Given the description of an element on the screen output the (x, y) to click on. 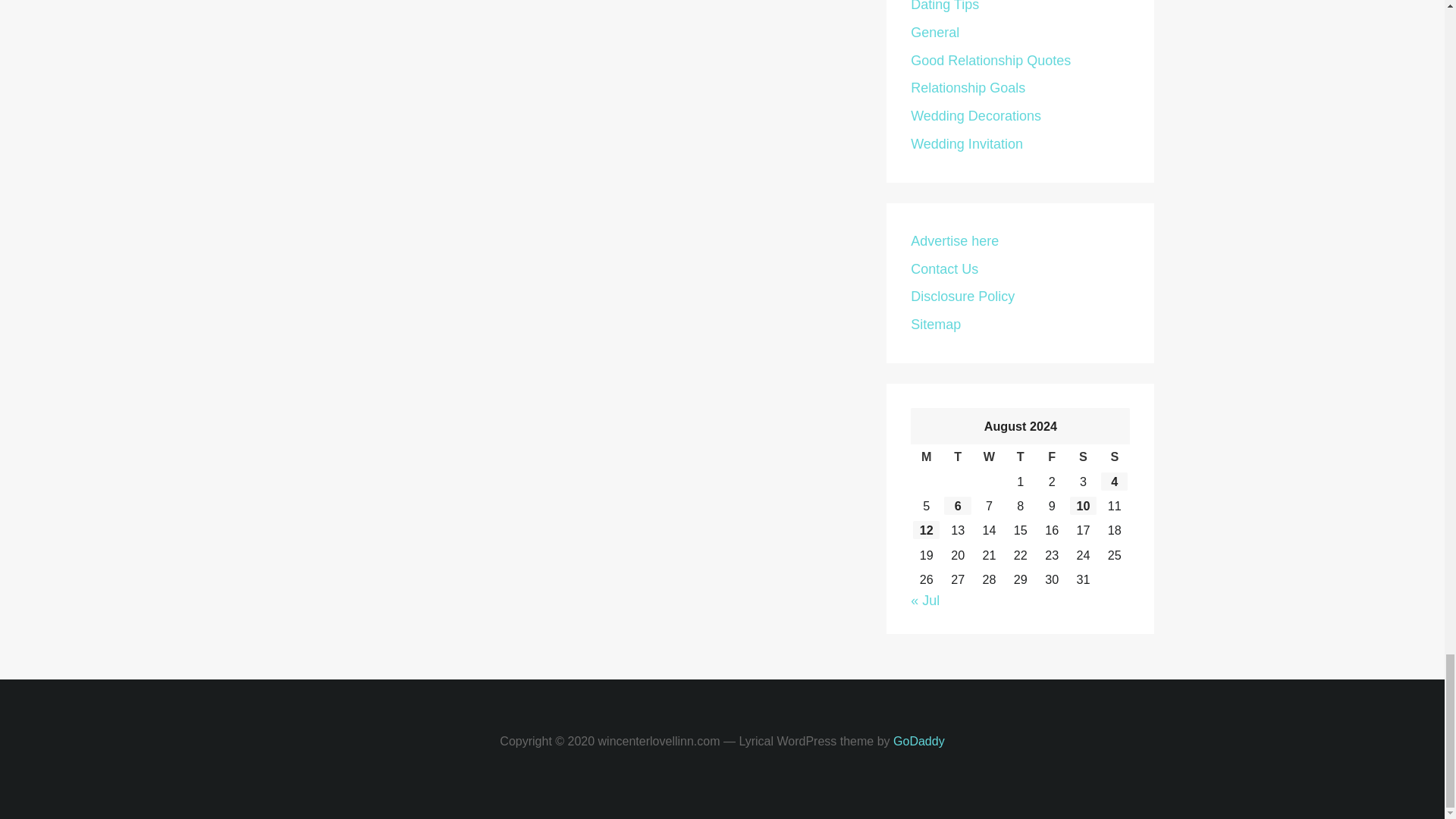
Saturday (1083, 456)
Monday (926, 456)
Thursday (1019, 456)
Tuesday (957, 456)
Friday (1051, 456)
Wednesday (989, 456)
Sunday (1114, 456)
